Given the description of an element on the screen output the (x, y) to click on. 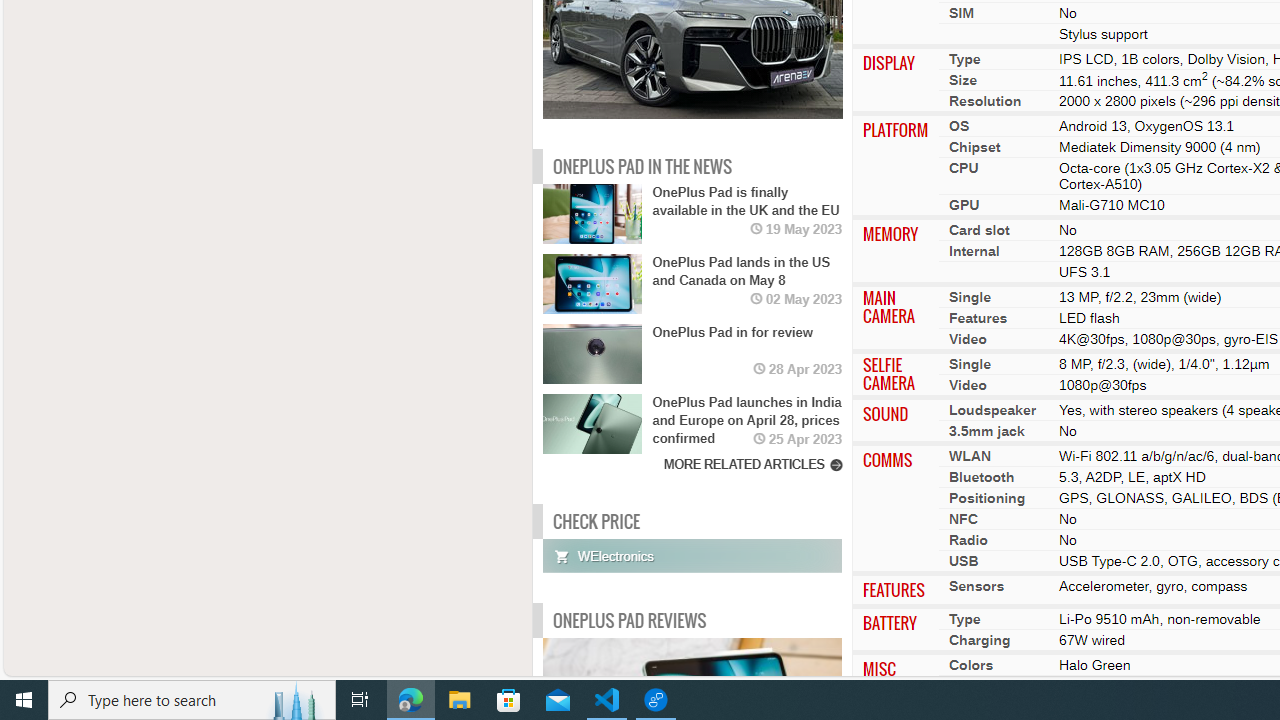
3.5mm jack (986, 431)
Loudspeaker (992, 410)
Features (978, 318)
